Given the description of an element on the screen output the (x, y) to click on. 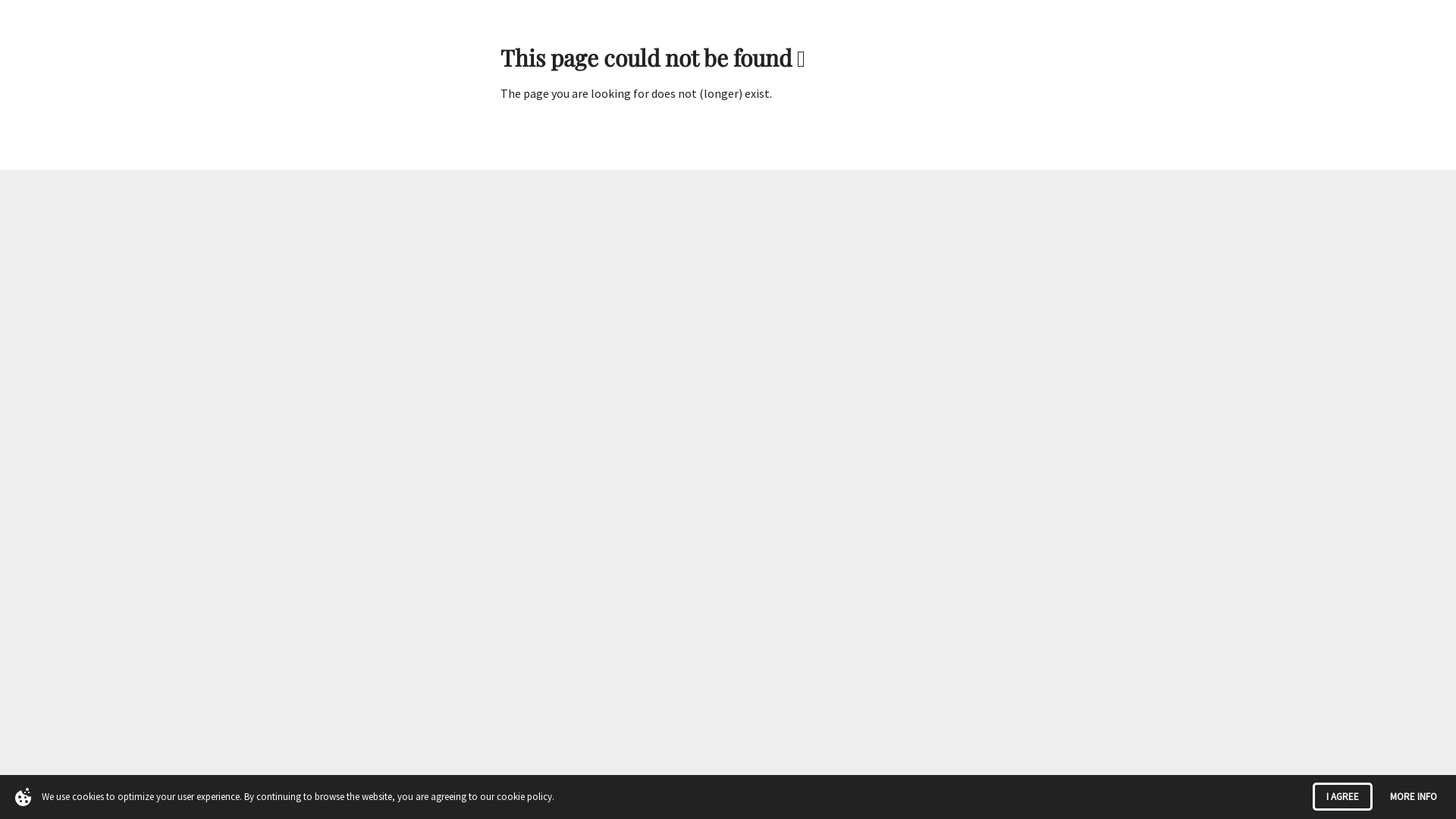
I AGREE Element type: text (1342, 796)
MORE INFO Element type: text (1413, 796)
